Given the description of an element on the screen output the (x, y) to click on. 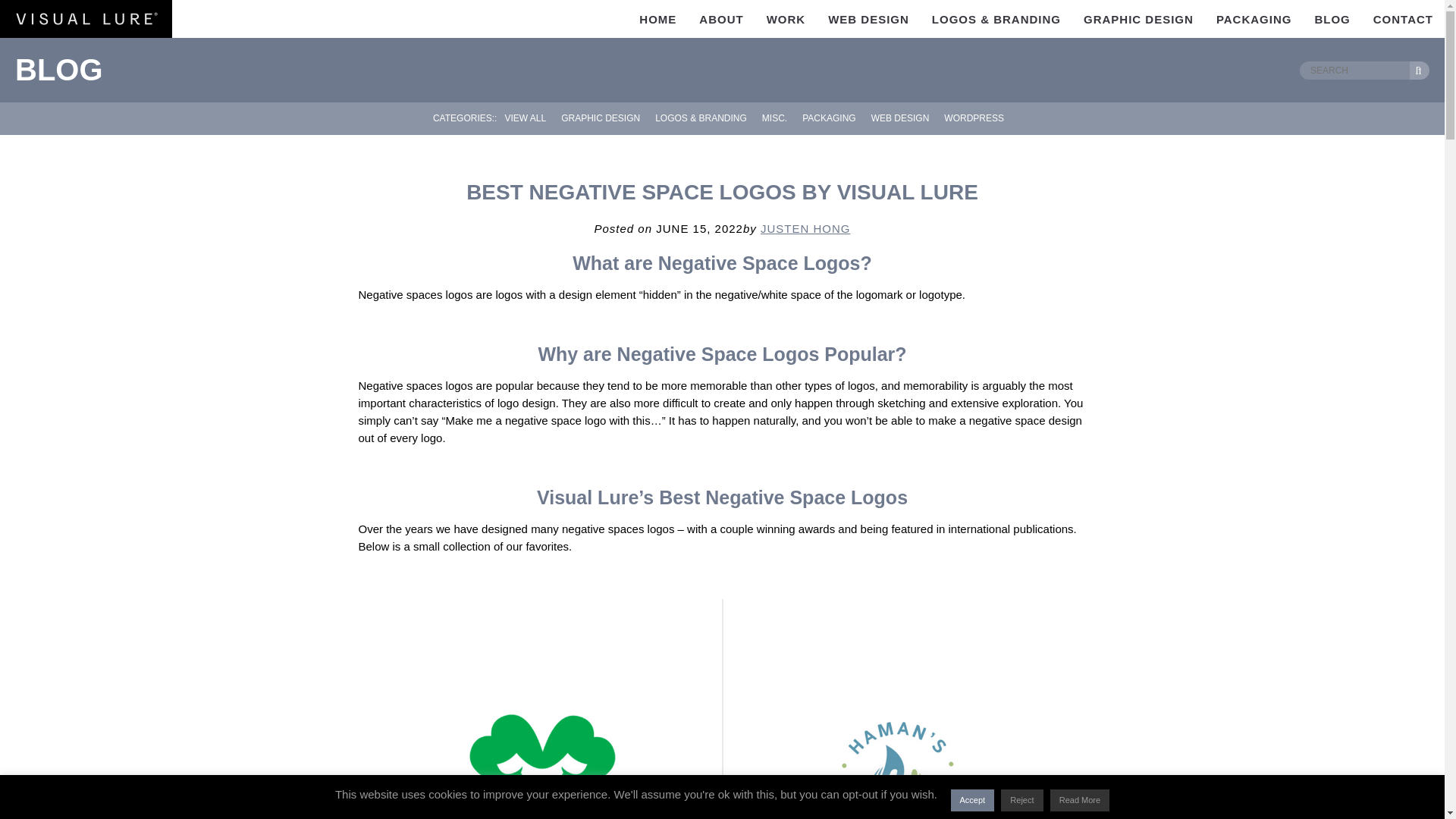
GRAPHIC DESIGN (1138, 18)
JUSTEN HONG (805, 228)
HOME (657, 18)
PACKAGING (1254, 18)
BLOG (1332, 18)
MISC. (774, 118)
WEB DESIGN (900, 118)
VIEW ALL (524, 118)
GRAPHIC DESIGN (600, 118)
WORK (785, 18)
